Given the description of an element on the screen output the (x, y) to click on. 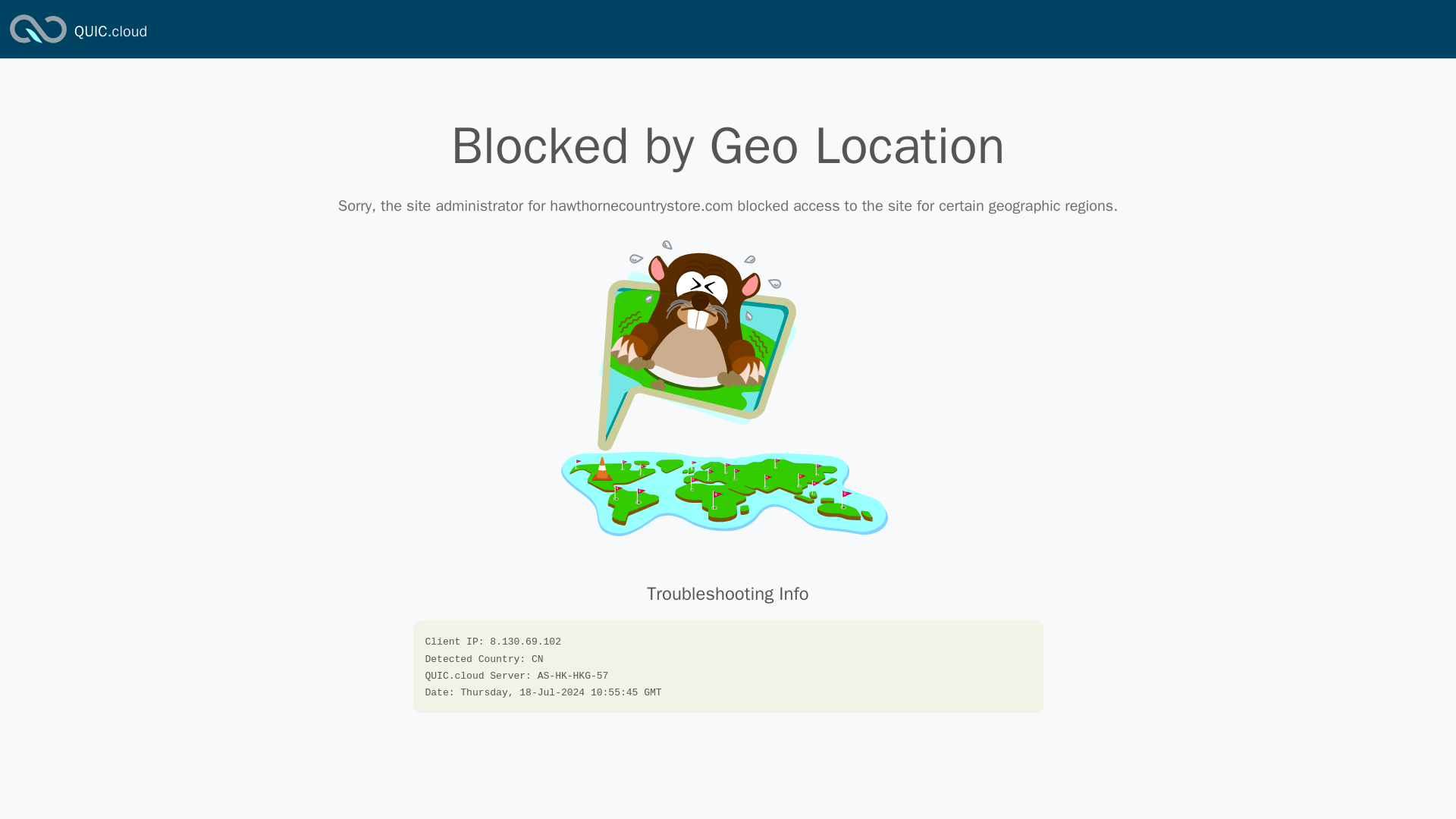
QUIC.cloud (110, 31)
QUIC.cloud (37, 43)
QUIC.cloud (110, 31)
